Given the description of an element on the screen output the (x, y) to click on. 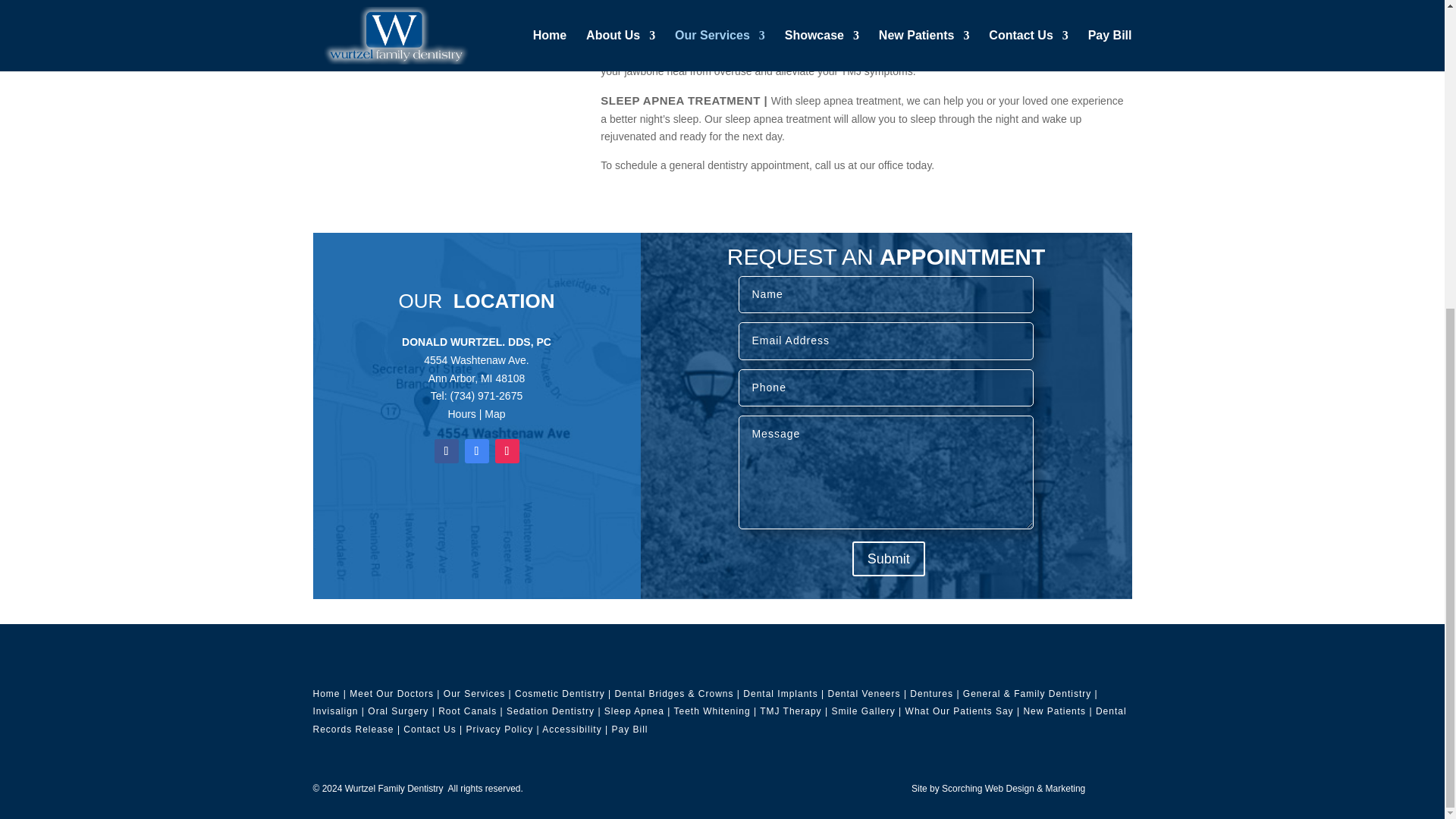
Hours (461, 413)
Ann Arbor, MI 48108 (476, 378)
Follow on Instagram (506, 450)
Follow on Facebook (445, 450)
Map (494, 413)
4554 Washtenaw Ave. (476, 359)
Follow on Google (475, 450)
